Given the description of an element on the screen output the (x, y) to click on. 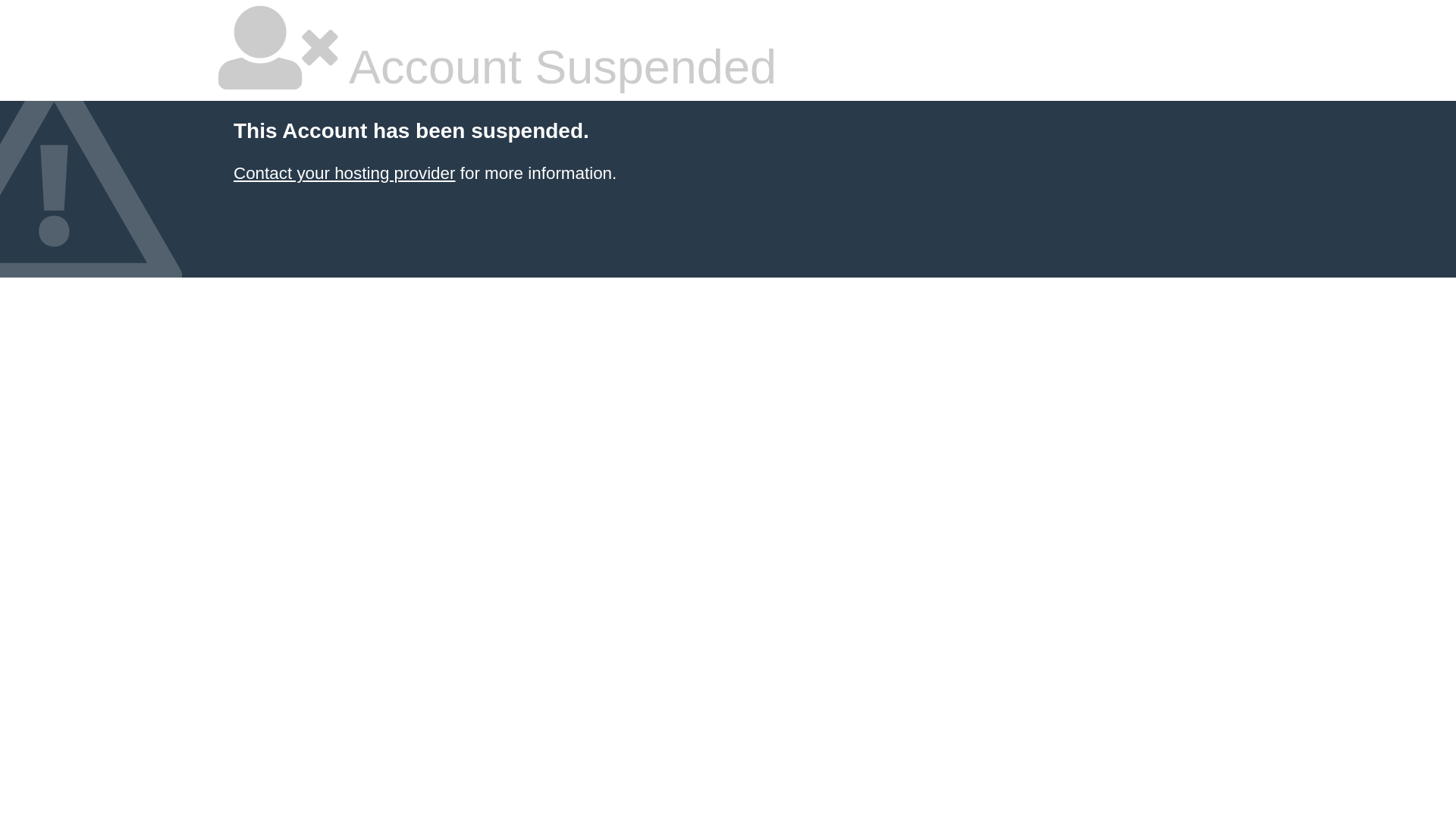
Contact your hosting provider Element type: text (344, 172)
